Given the description of an element on the screen output the (x, y) to click on. 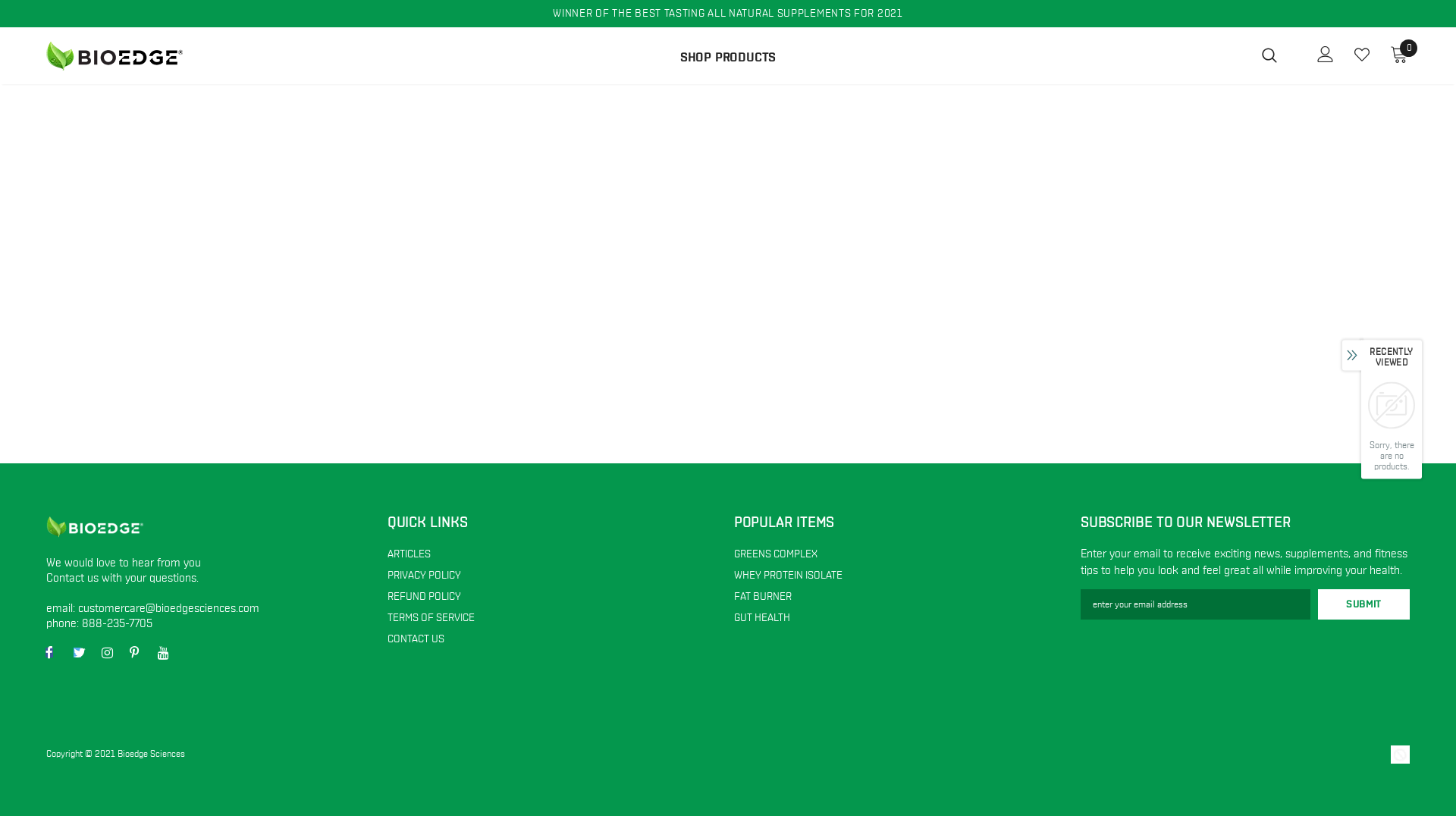
User Icon Element type: hover (1325, 53)
GUT HEALTH Element type: text (762, 616)
My Wish Lists Element type: hover (1361, 54)
FAT BURNER Element type: text (762, 595)
Facebook Element type: hover (48, 652)
Twitter Element type: hover (77, 652)
PRIVACY POLICY Element type: text (424, 574)
TERMS OF SERVICE Element type: text (430, 616)
Instagram Element type: hover (105, 652)
YouTube Element type: hover (161, 652)
Submit Element type: text (1363, 603)
0 Element type: text (1399, 53)
CONTACT US Element type: text (415, 638)
ARTICLES Element type: text (408, 553)
SHOP PRODUCTS Element type: text (727, 60)
Pinterest Element type: hover (133, 652)
Search Icon Element type: hover (1278, 54)
WHEY PROTEIN ISOLATE Element type: text (788, 574)
REFUND POLICY Element type: text (424, 595)
GREENS COMPLEX Element type: text (775, 553)
Logo Element type: hover (135, 55)
